Given the description of an element on the screen output the (x, y) to click on. 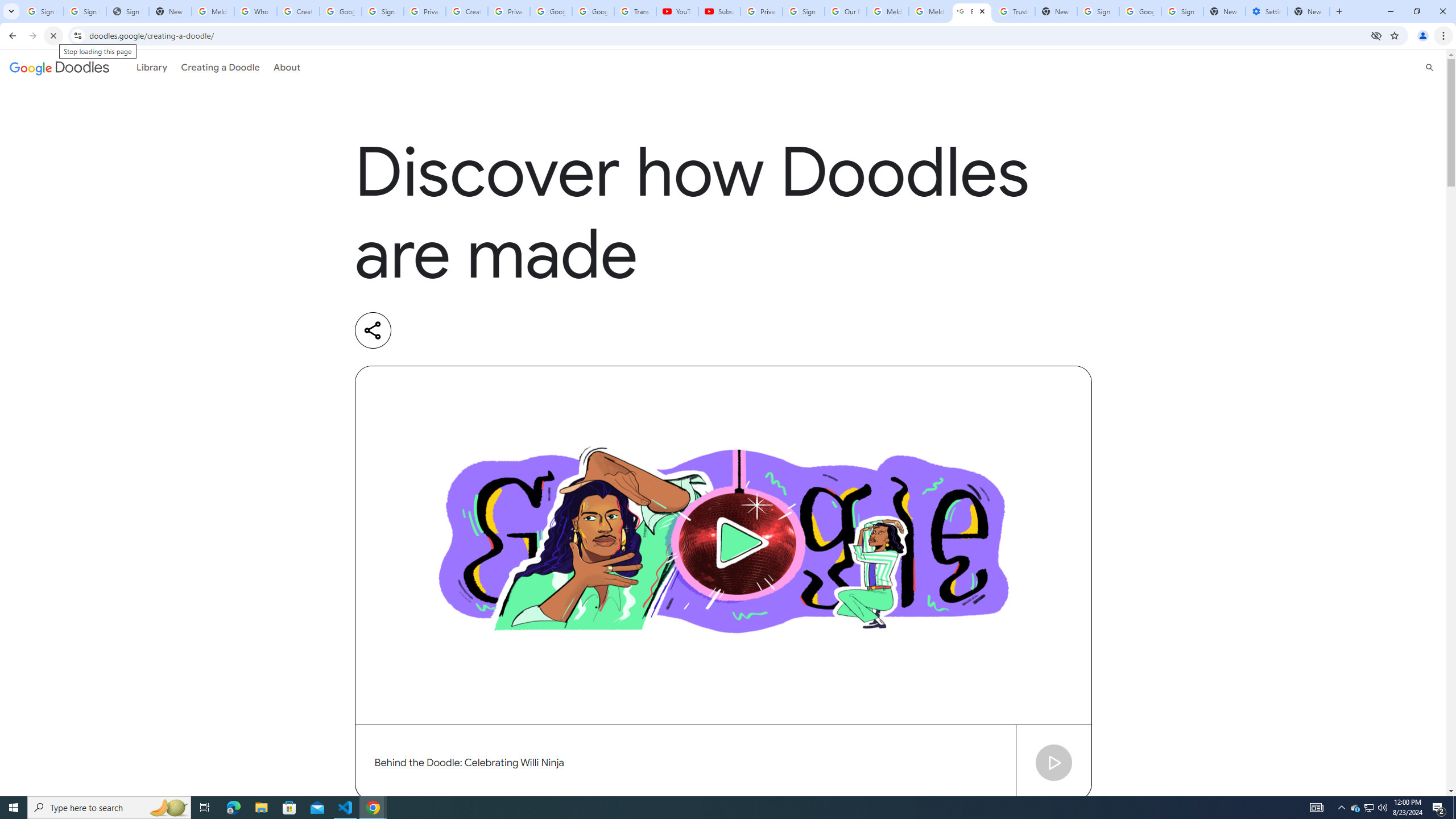
Create your Google Account (467, 11)
Sign in - Google Accounts (1097, 11)
New Tab (1308, 11)
Who is my administrator? - Google Account Help (255, 11)
Settings - Addresses and more (1266, 11)
New Tab (1224, 11)
